Given the description of an element on the screen output the (x, y) to click on. 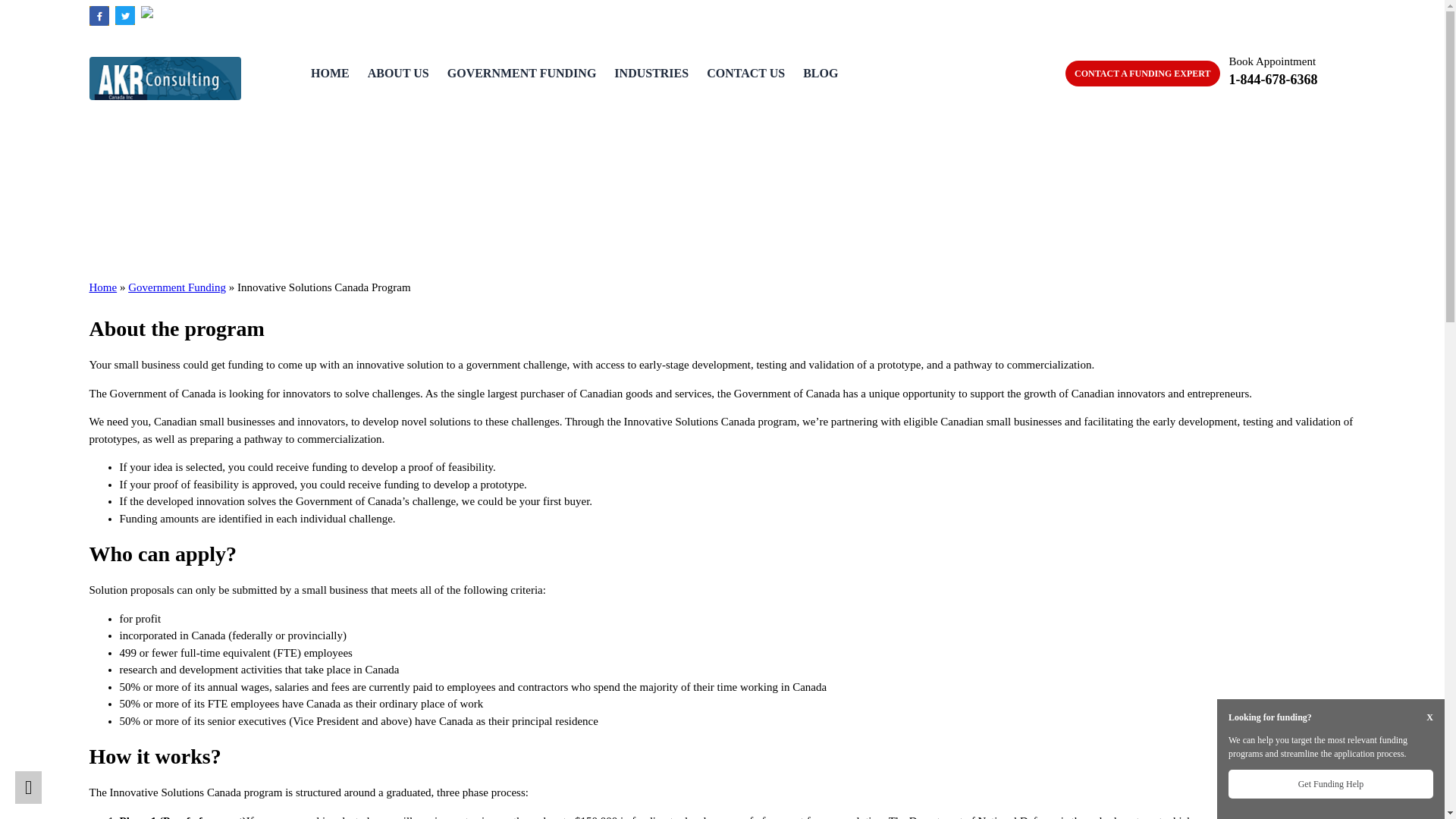
Get Funding Help (1330, 783)
ABOUT US (398, 72)
Government Funding (176, 287)
CONTACT US (745, 72)
BLOG (820, 72)
INDUSTRIES (651, 72)
Home (102, 287)
CONTACT A FUNDING EXPERT (1142, 73)
Home (102, 287)
HOME (330, 72)
